Given the description of an element on the screen output the (x, y) to click on. 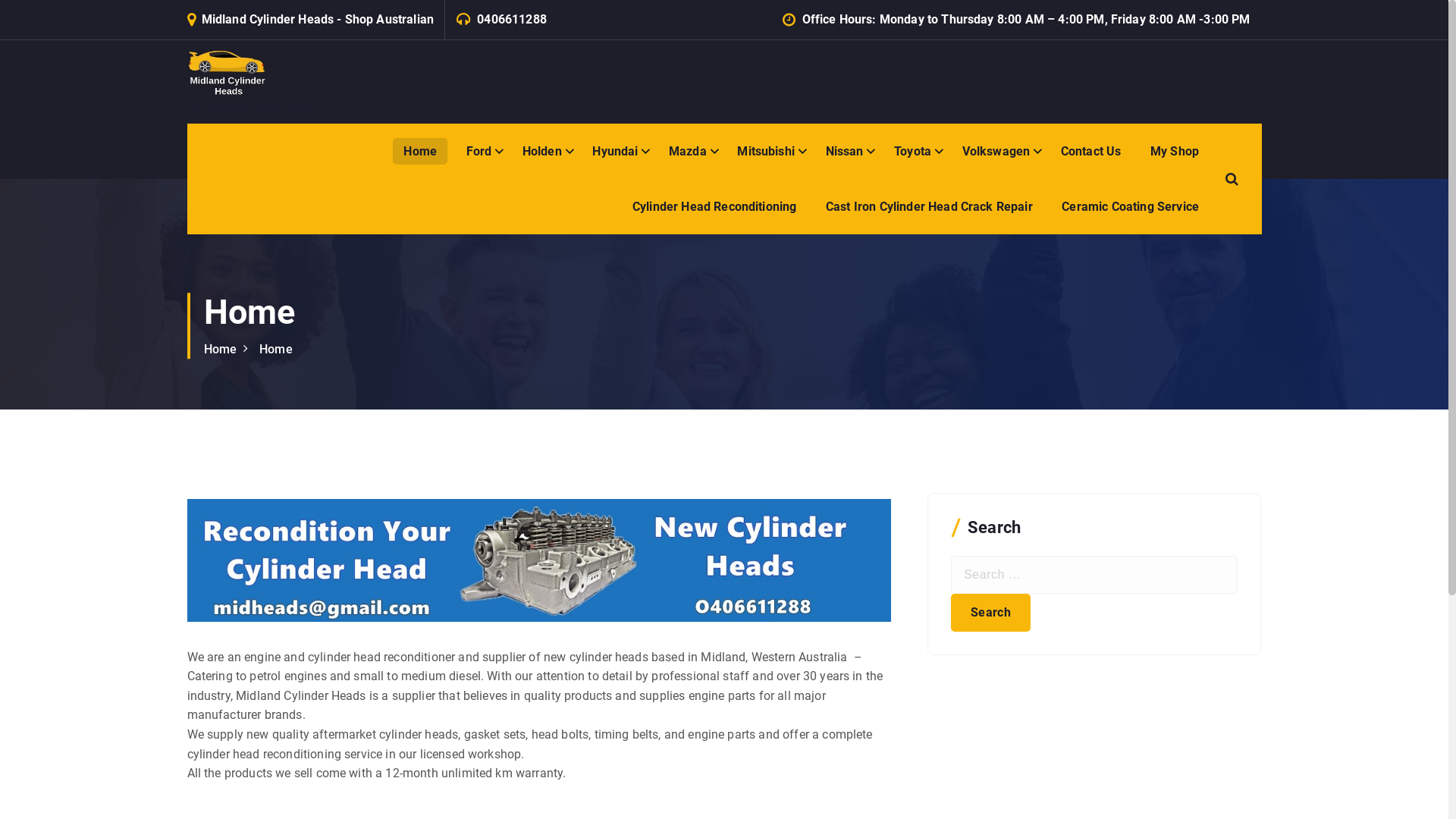
Mazda Element type: text (688, 150)
Home Element type: text (219, 349)
Ford Element type: text (479, 150)
Nissan Element type: text (845, 150)
Cylinder Head Reconditioning Element type: text (713, 206)
Holden Element type: text (542, 150)
Mitsubishi Element type: text (766, 150)
Midland Cylinder Heads Logo Element type: hover (538, 560)
Volkswagen Element type: text (996, 150)
Toyota Element type: text (913, 150)
Hyundai Element type: text (615, 150)
Midland Cylinder Heads - Shop Australian Element type: text (317, 19)
My Shop Element type: text (1174, 150)
Home Element type: text (419, 150)
0406611288 Element type: text (511, 19)
Contact Us Element type: text (1091, 150)
Ceramic Coating Service Element type: text (1130, 206)
Search Element type: text (990, 612)
Cast Iron Cylinder Head Crack Repair Element type: text (929, 206)
